Given the description of an element on the screen output the (x, y) to click on. 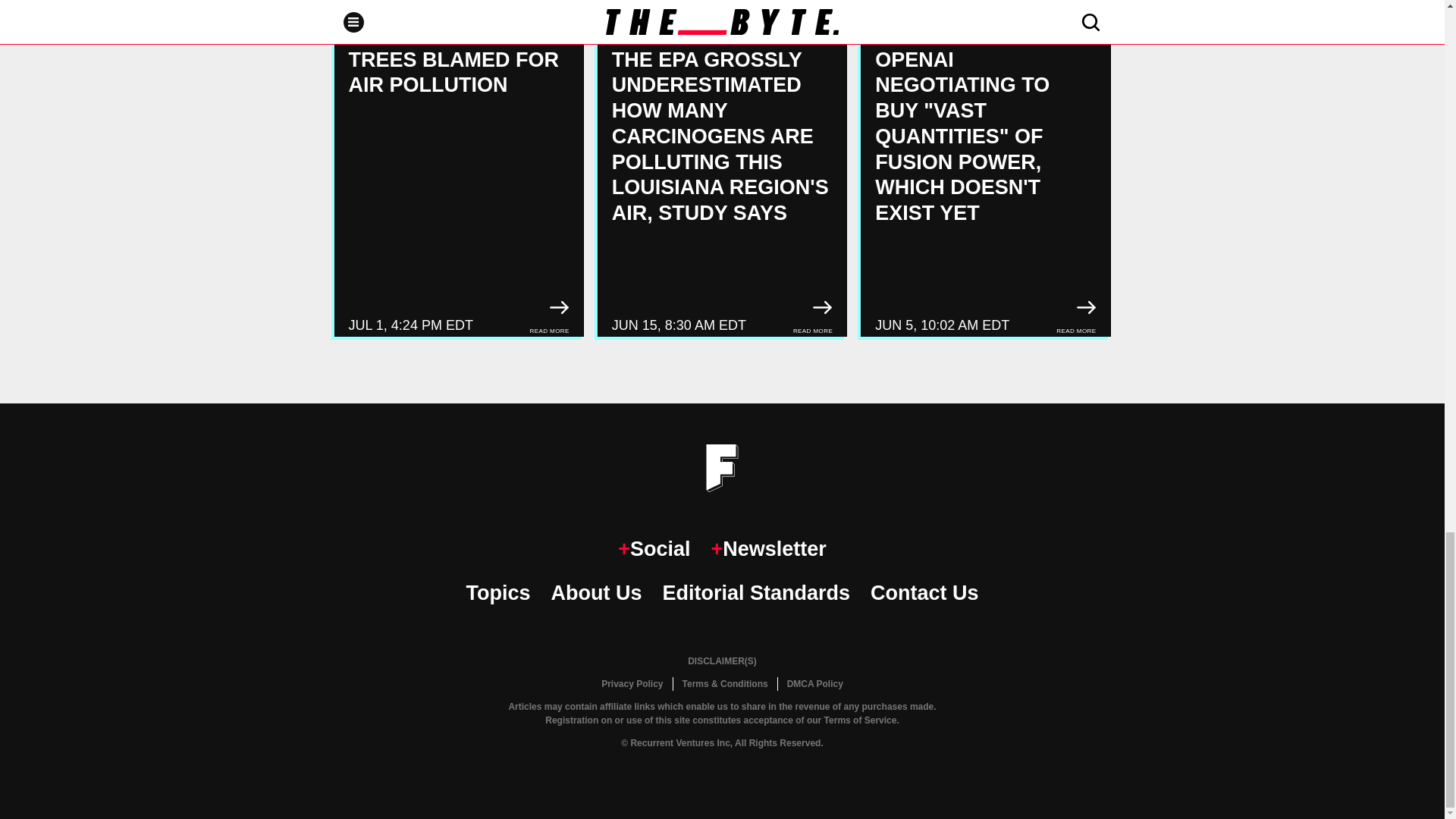
Topics (497, 593)
DMCA Policy (814, 684)
Contact Us (924, 593)
About Us (596, 593)
Privacy Policy (631, 684)
Editorial Standards (756, 593)
